Given the description of an element on the screen output the (x, y) to click on. 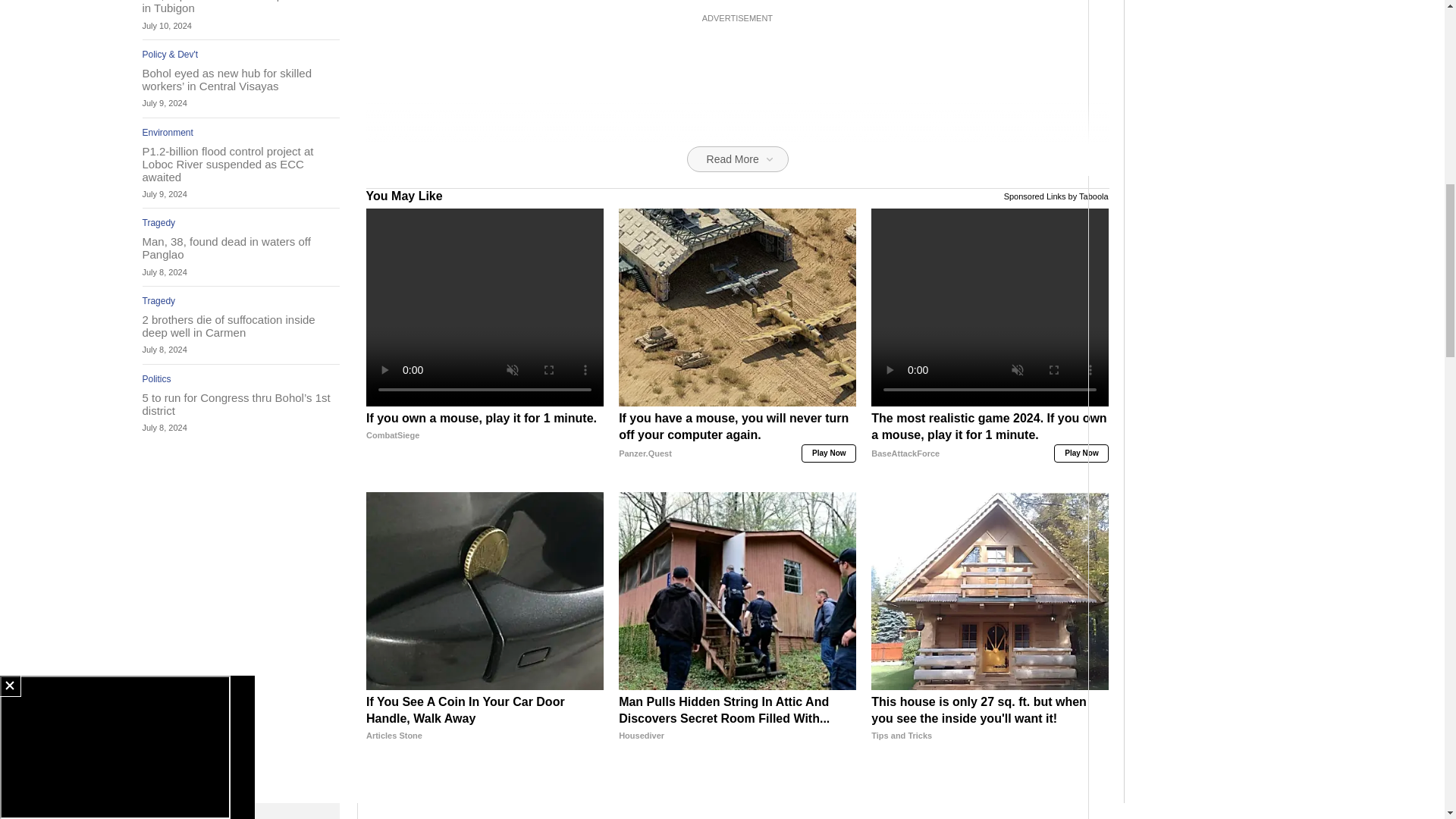
Environment (167, 132)
If you own a mouse, play it for 1 minute. (485, 307)
If you own a mouse, play it for 1 minute. (485, 443)
